Given the description of an element on the screen output the (x, y) to click on. 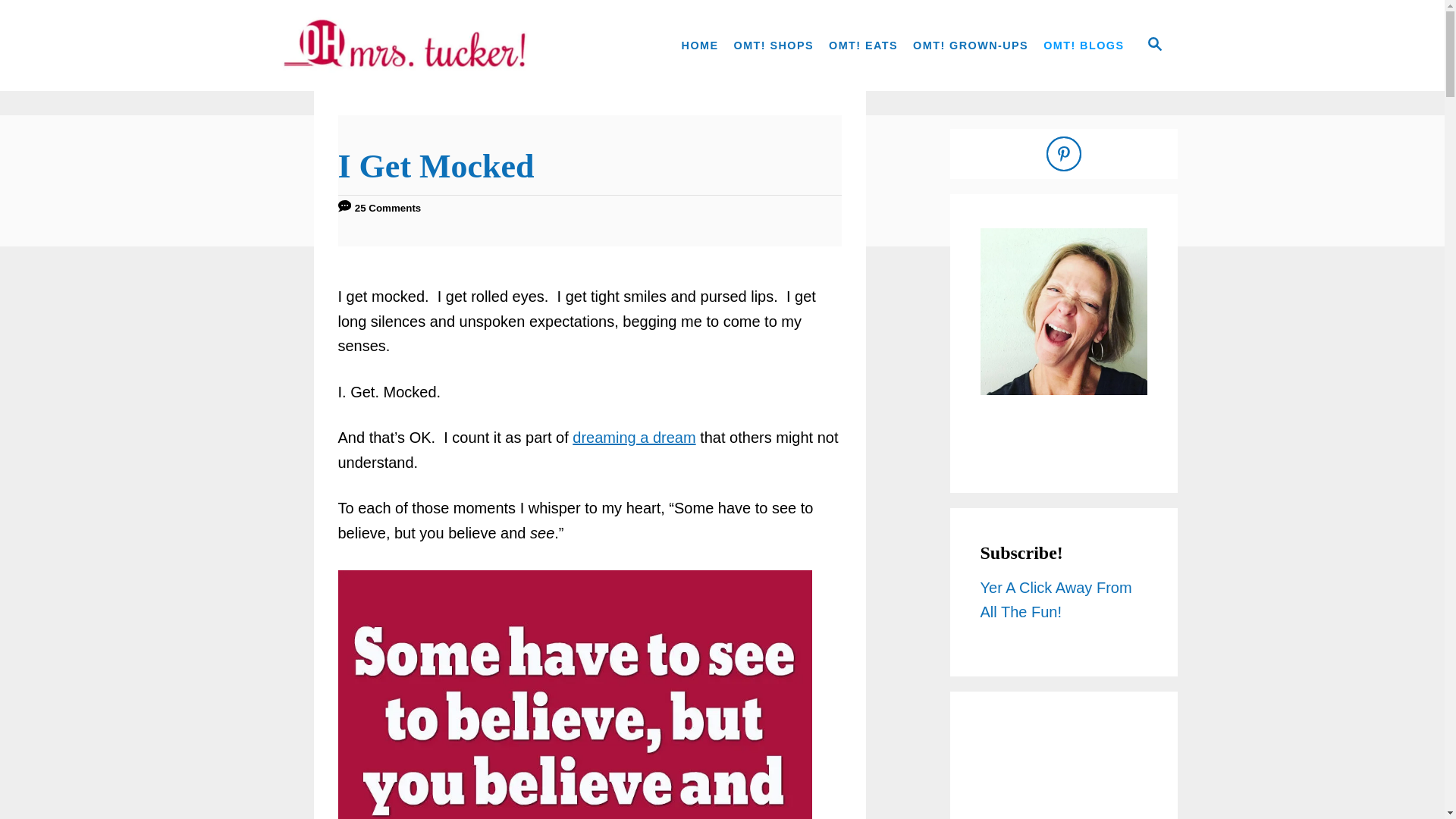
HOME (700, 45)
OMT! SHOPS (774, 45)
OMT! BLOGS (1083, 45)
dreaming a dream (633, 437)
Yer A Click Away From All The Fun! (1055, 599)
OMT! GROWN-UPS (970, 45)
Oh, Mrs. Tucker! (403, 45)
SEARCH (1153, 45)
Search (22, 22)
Follow on Pinterest (1063, 153)
OMT! EATS (863, 45)
